Given the description of an element on the screen output the (x, y) to click on. 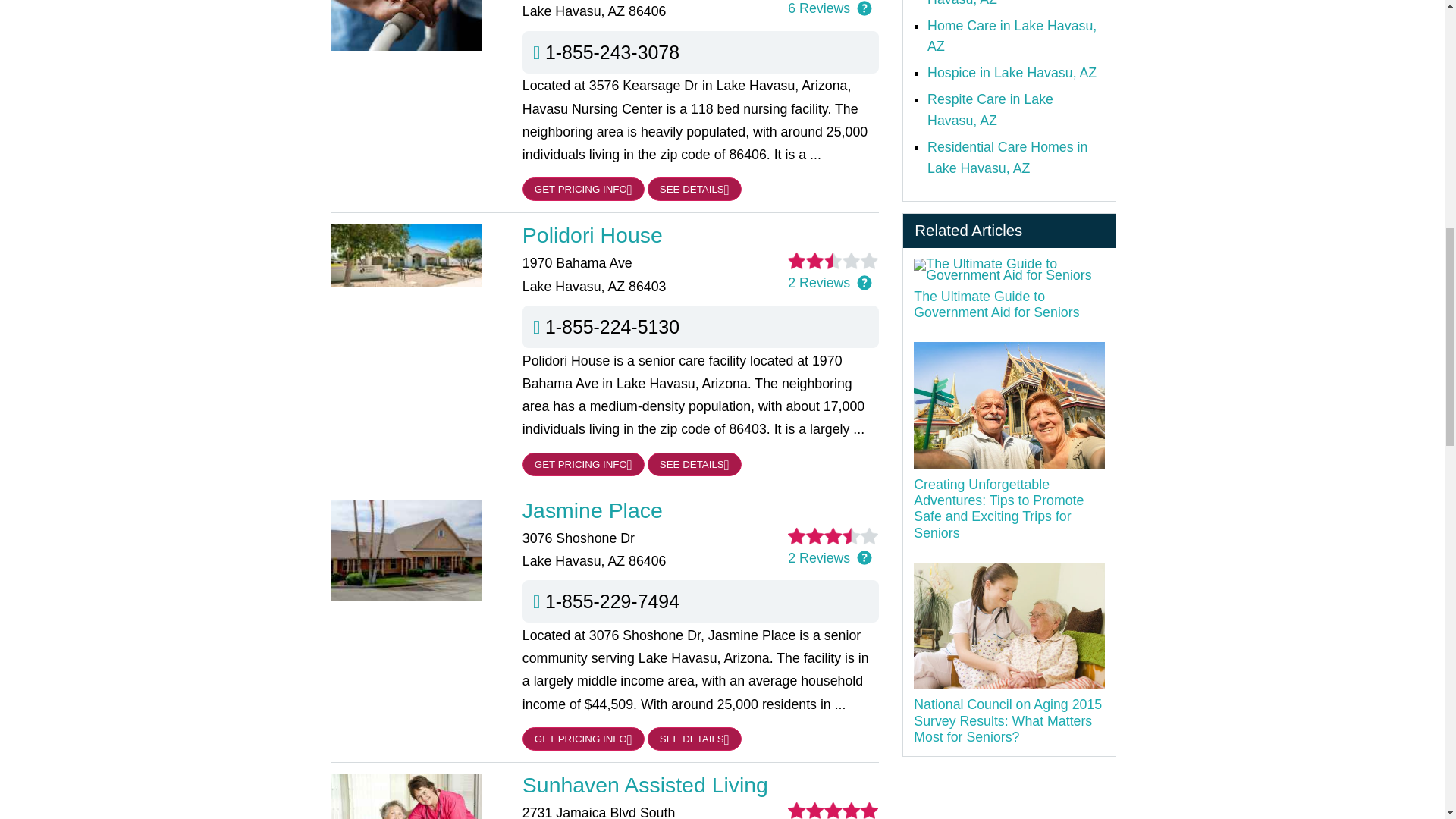
The Ultimate Guide to Government Aid for Seniors (1008, 269)
Jasmine Place Lake Havasu, AZ (700, 509)
Hospice (1011, 72)
Polidori House Lake Havasu, AZ (700, 234)
Residential (1007, 157)
Independent (1007, 3)
Home (1011, 36)
Respite (989, 109)
Sunhaven Assisted Living Lake Havasu, AZ (700, 784)
